Given the description of an element on the screen output the (x, y) to click on. 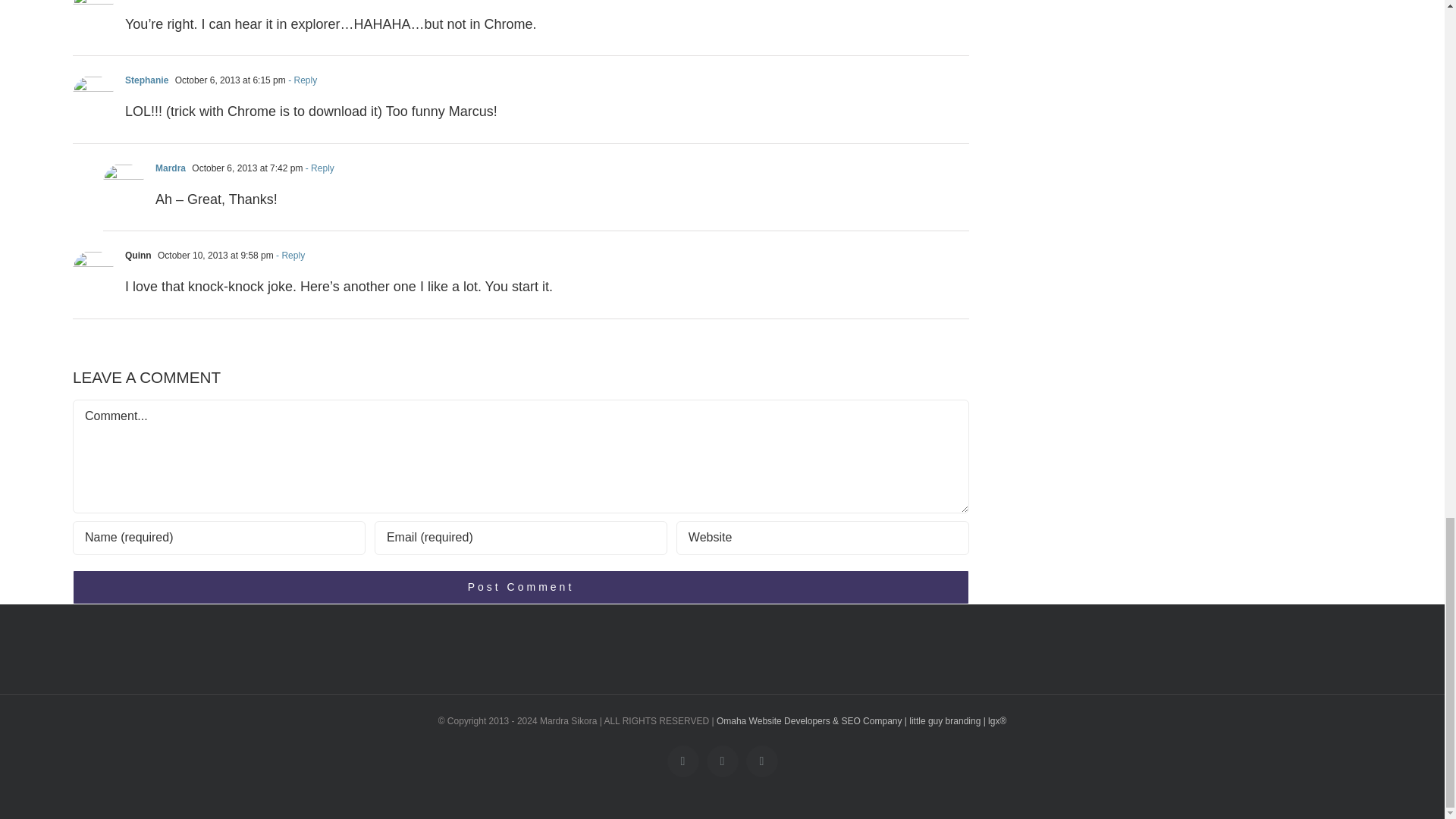
Post Comment (520, 587)
